Given the description of an element on the screen output the (x, y) to click on. 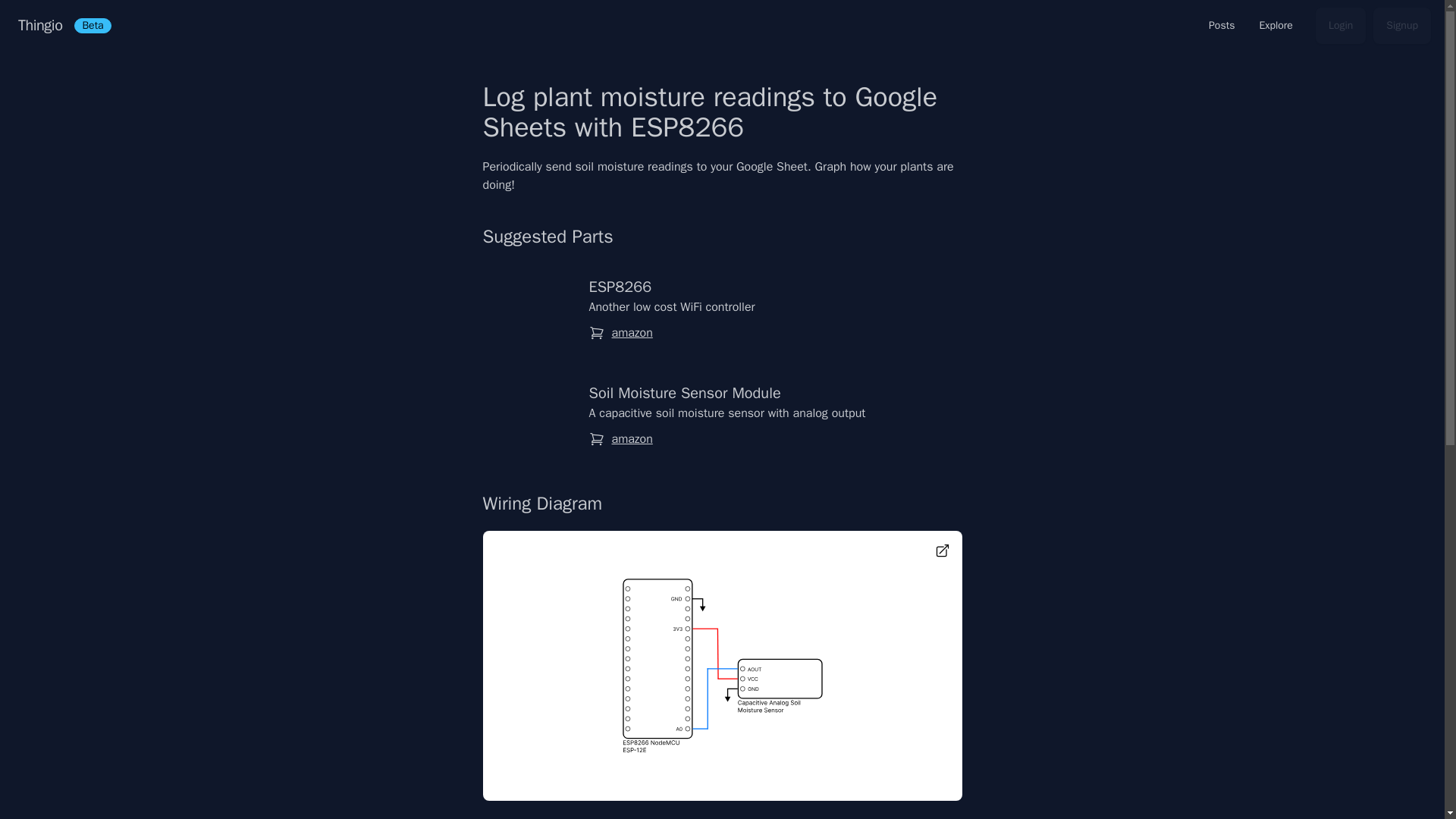
Signup (1402, 25)
Explore (1275, 25)
Login (1340, 25)
Thingio (39, 25)
amazon (631, 438)
Posts (1221, 25)
amazon (631, 332)
